Given the description of an element on the screen output the (x, y) to click on. 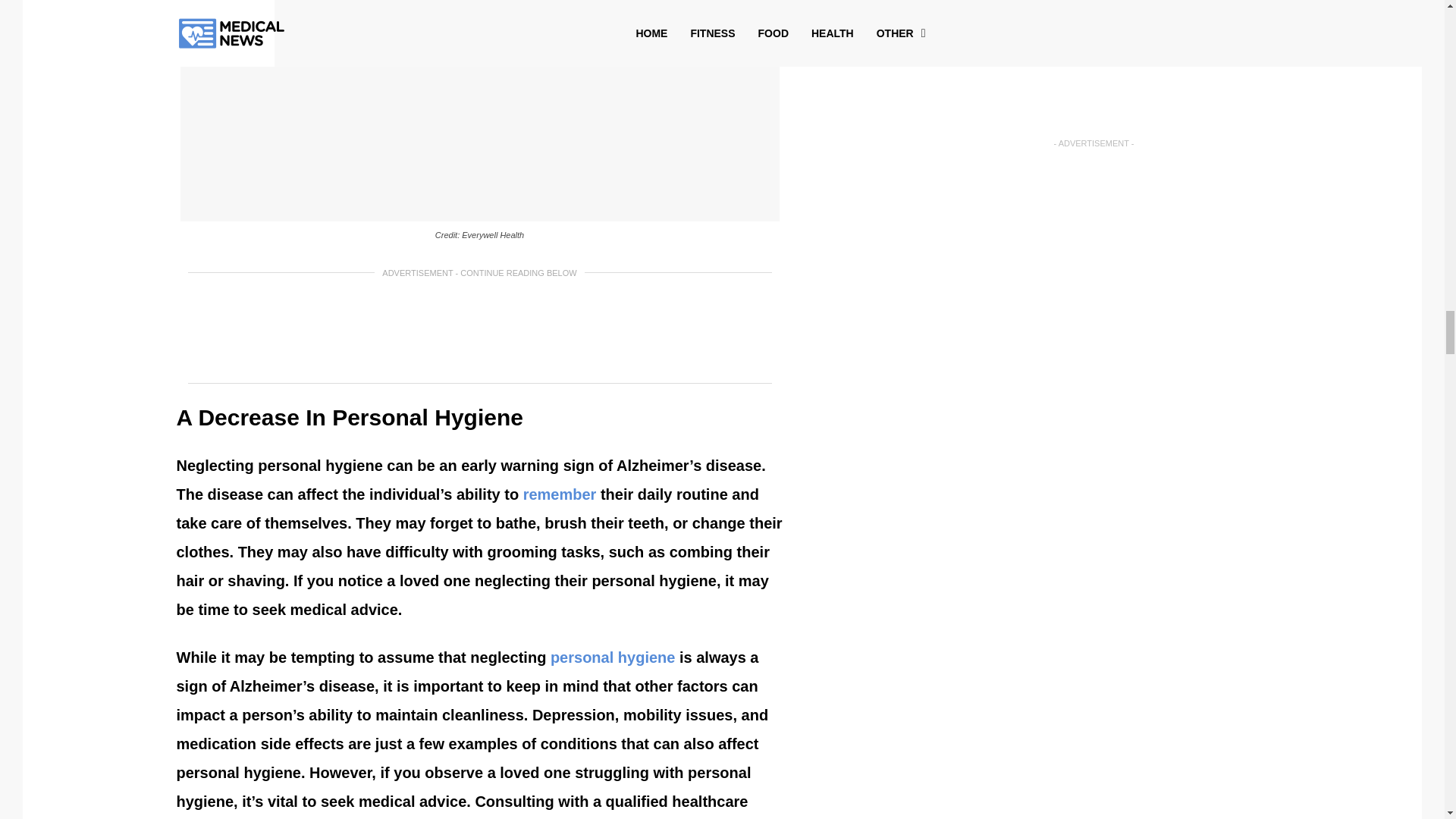
personal hygiene (612, 657)
remember (559, 494)
